Given the description of an element on the screen output the (x, y) to click on. 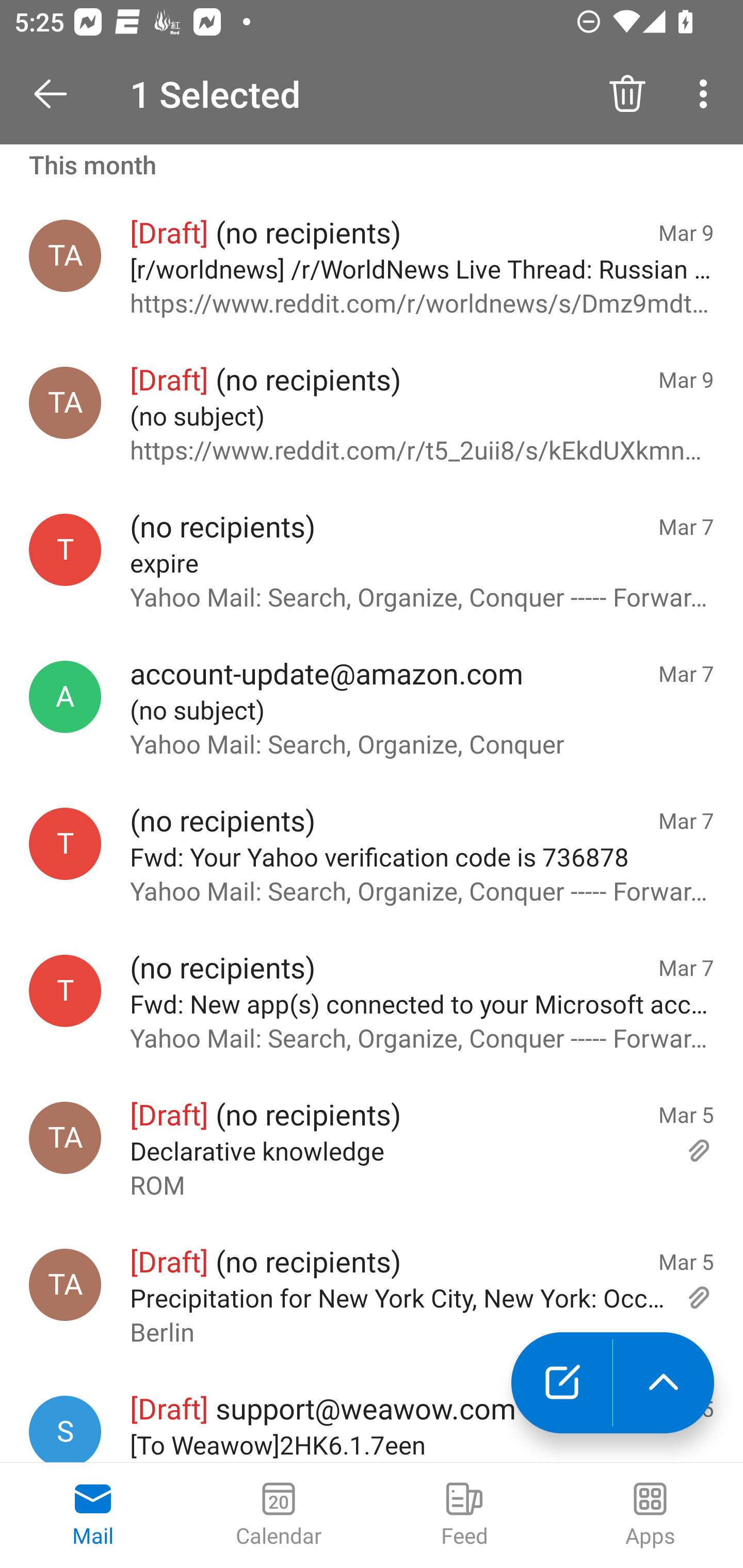
Delete (626, 93)
More options (706, 93)
Open Navigation Drawer (57, 94)
Test Appium, testappium002@outlook.com (64, 255)
Test Appium, testappium002@outlook.com (64, 402)
testappium002@outlook.com (64, 550)
testappium002@outlook.com (64, 843)
testappium002@outlook.com (64, 990)
Test Appium, testappium002@outlook.com (64, 1138)
Test Appium, testappium002@outlook.com (64, 1284)
New mail (561, 1382)
launch the extended action menu (663, 1382)
support@weawow.com (64, 1428)
Calendar (278, 1515)
Feed (464, 1515)
Apps (650, 1515)
